Given the description of an element on the screen output the (x, y) to click on. 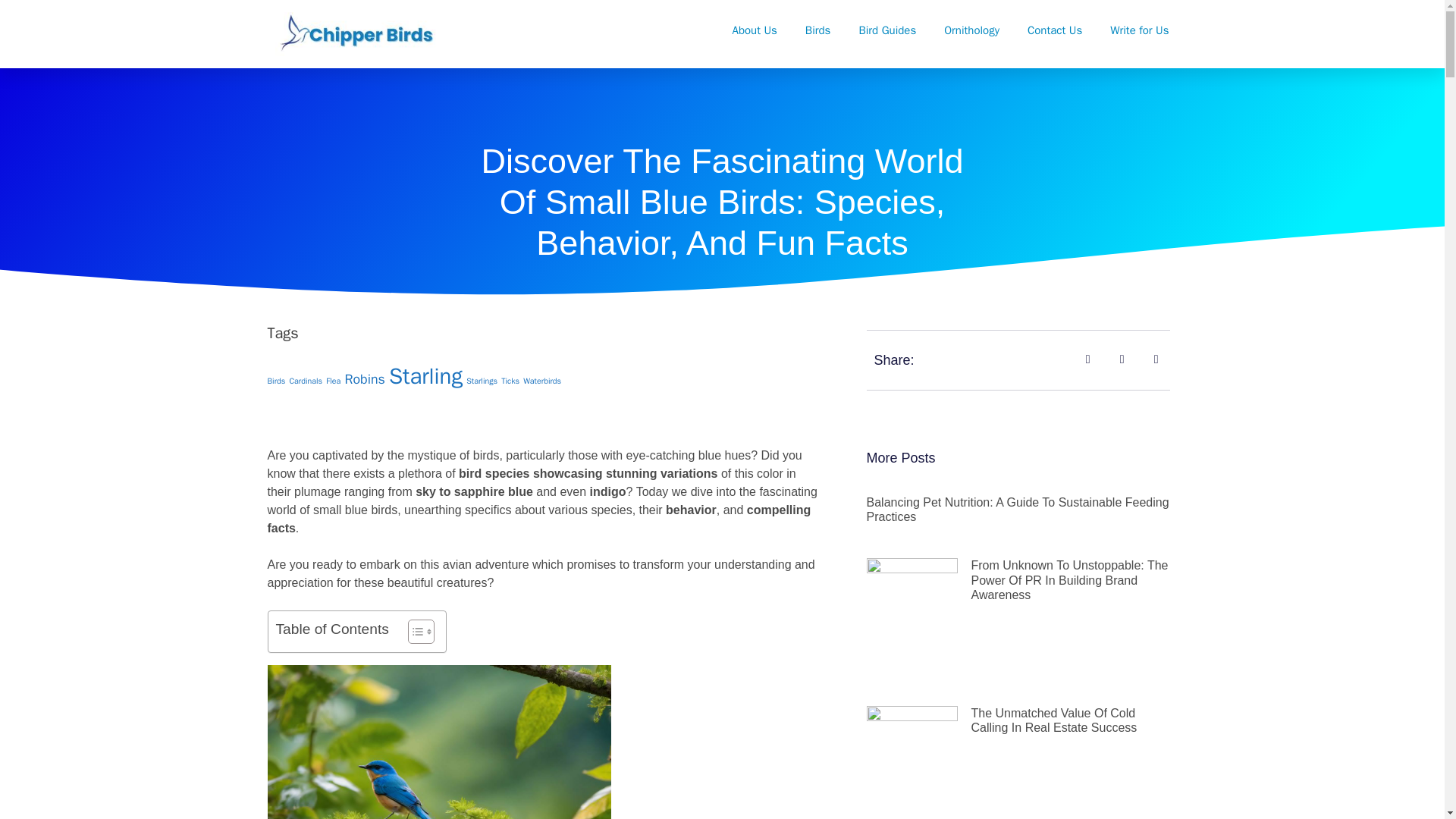
Ticks (509, 380)
Contact Us (1054, 29)
Ornithology (971, 29)
Birds (818, 29)
Starlings (481, 380)
Cardinals (304, 380)
Robins (363, 379)
Write for Us (1139, 29)
About Us (754, 29)
Flea (333, 380)
